Given the description of an element on the screen output the (x, y) to click on. 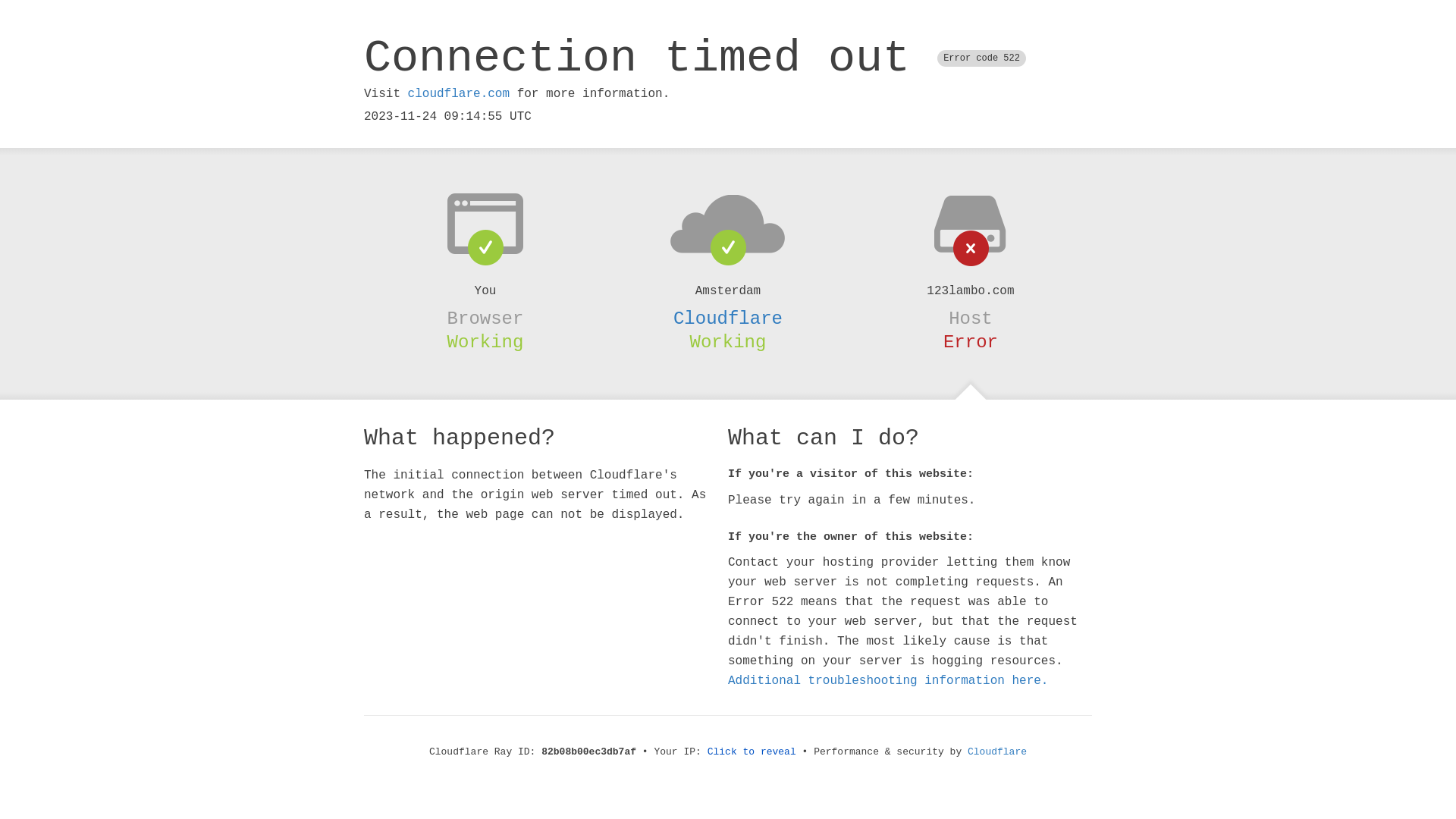
Cloudflare Element type: text (727, 318)
cloudflare.com Element type: text (458, 93)
Additional troubleshooting information here. Element type: text (888, 680)
Click to reveal Element type: text (751, 751)
Cloudflare Element type: text (996, 751)
